Given the description of an element on the screen output the (x, y) to click on. 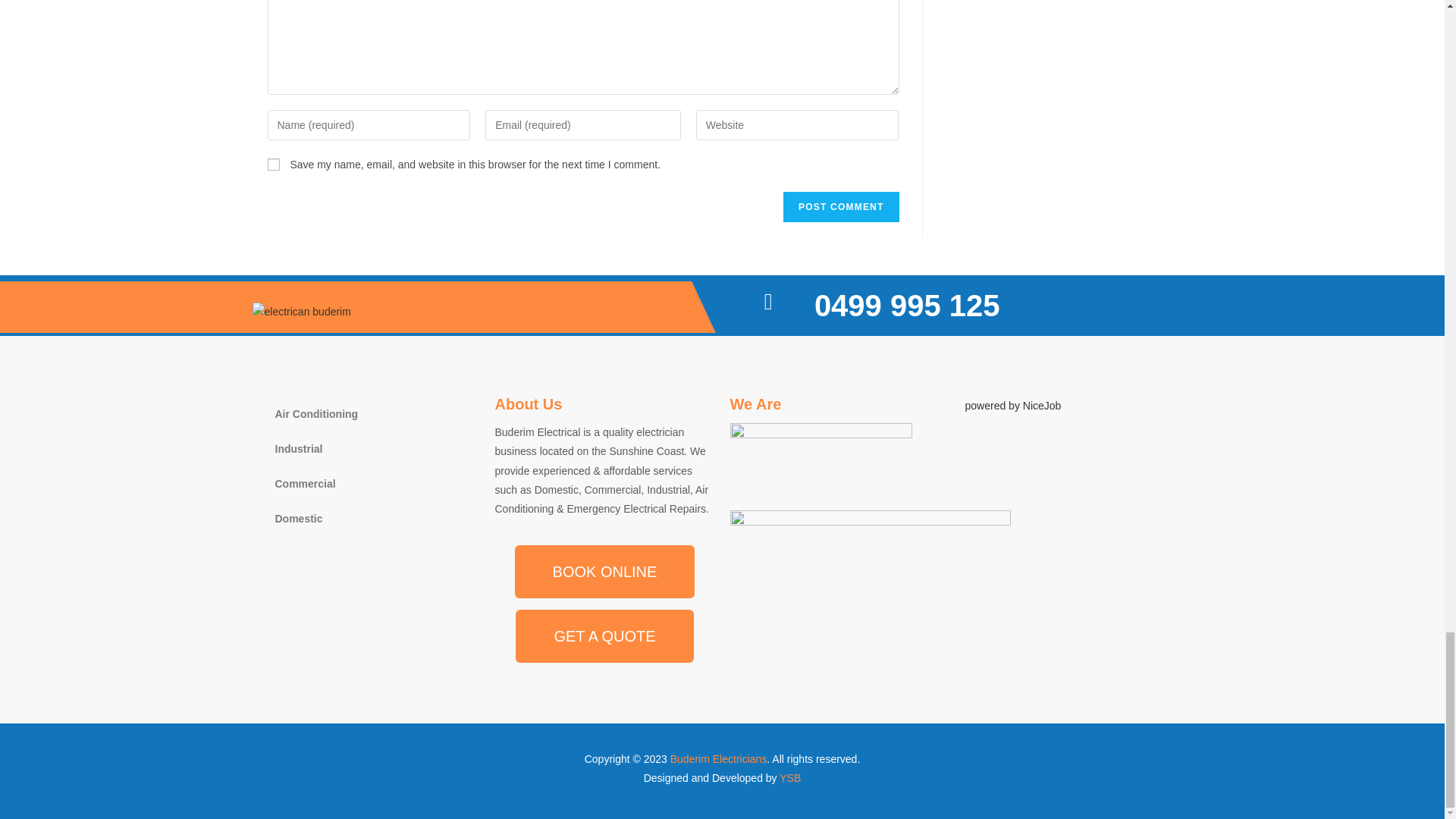
Post Comment (840, 206)
electrician buderim (300, 311)
yes (272, 164)
